Given the description of an element on the screen output the (x, y) to click on. 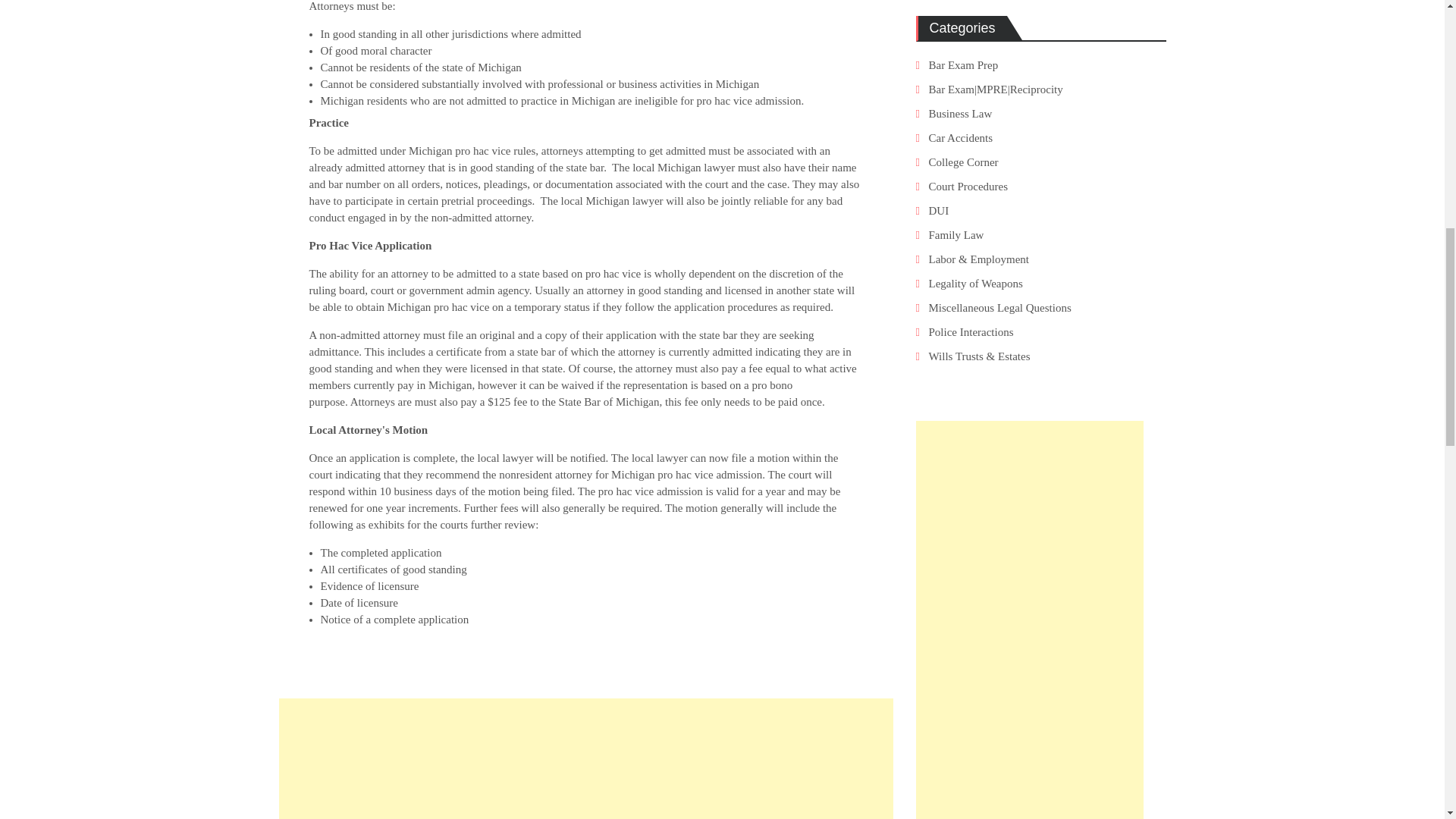
All Your Business Law Needs (959, 113)
